Given the description of an element on the screen output the (x, y) to click on. 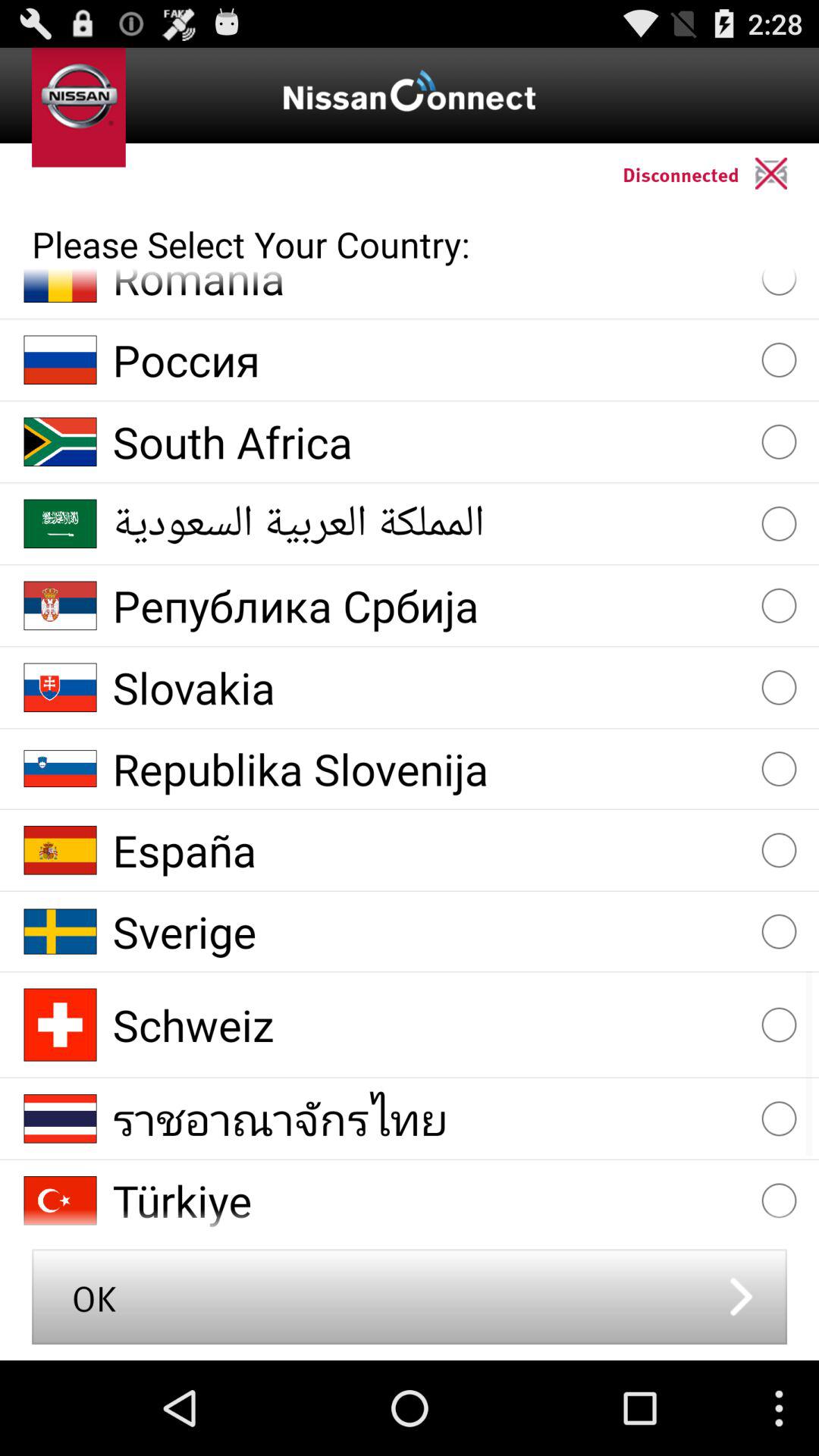
click the sverige app (429, 931)
